Given the description of an element on the screen output the (x, y) to click on. 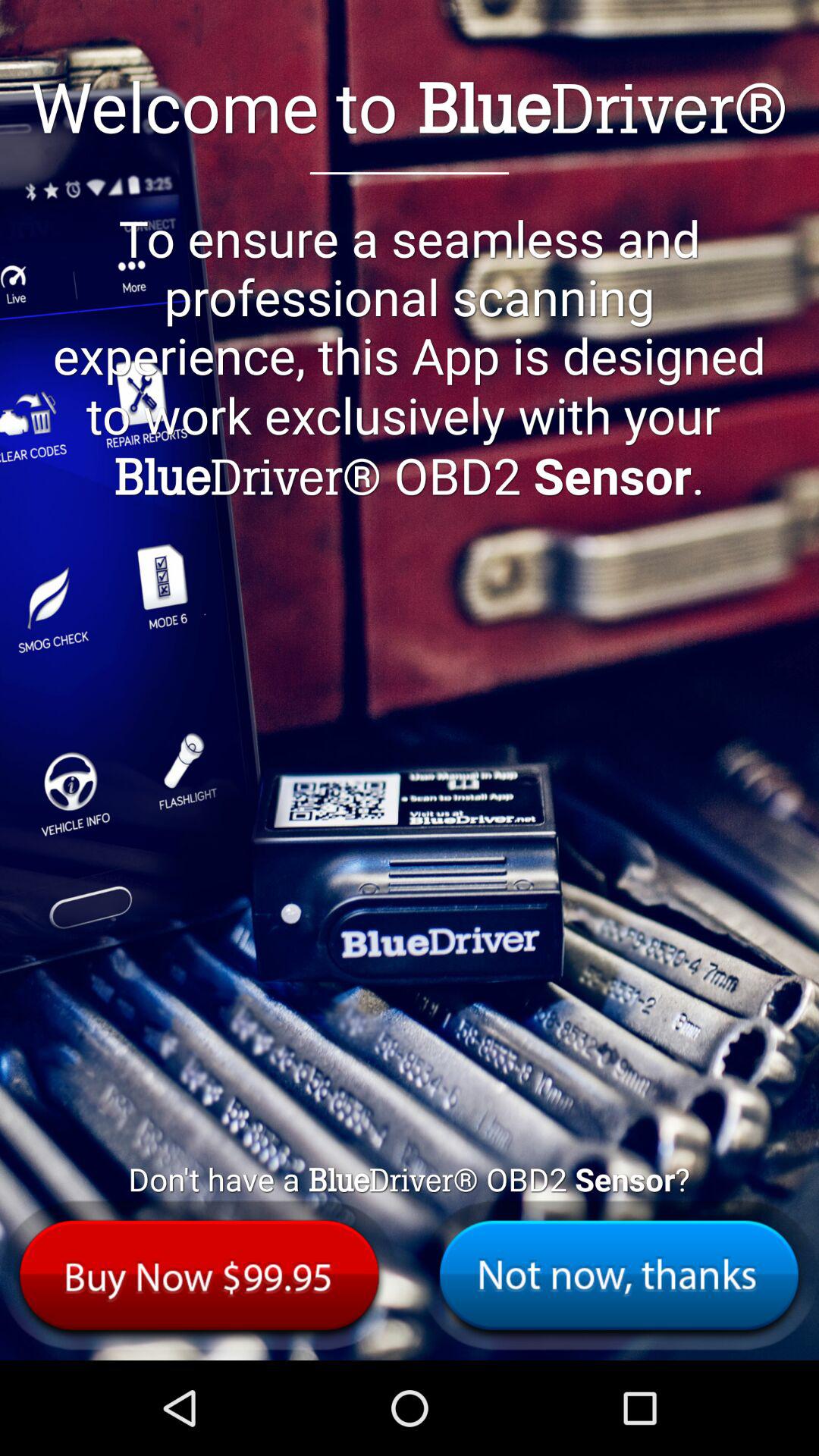
press the icon at the bottom left corner (199, 1275)
